Given the description of an element on the screen output the (x, y) to click on. 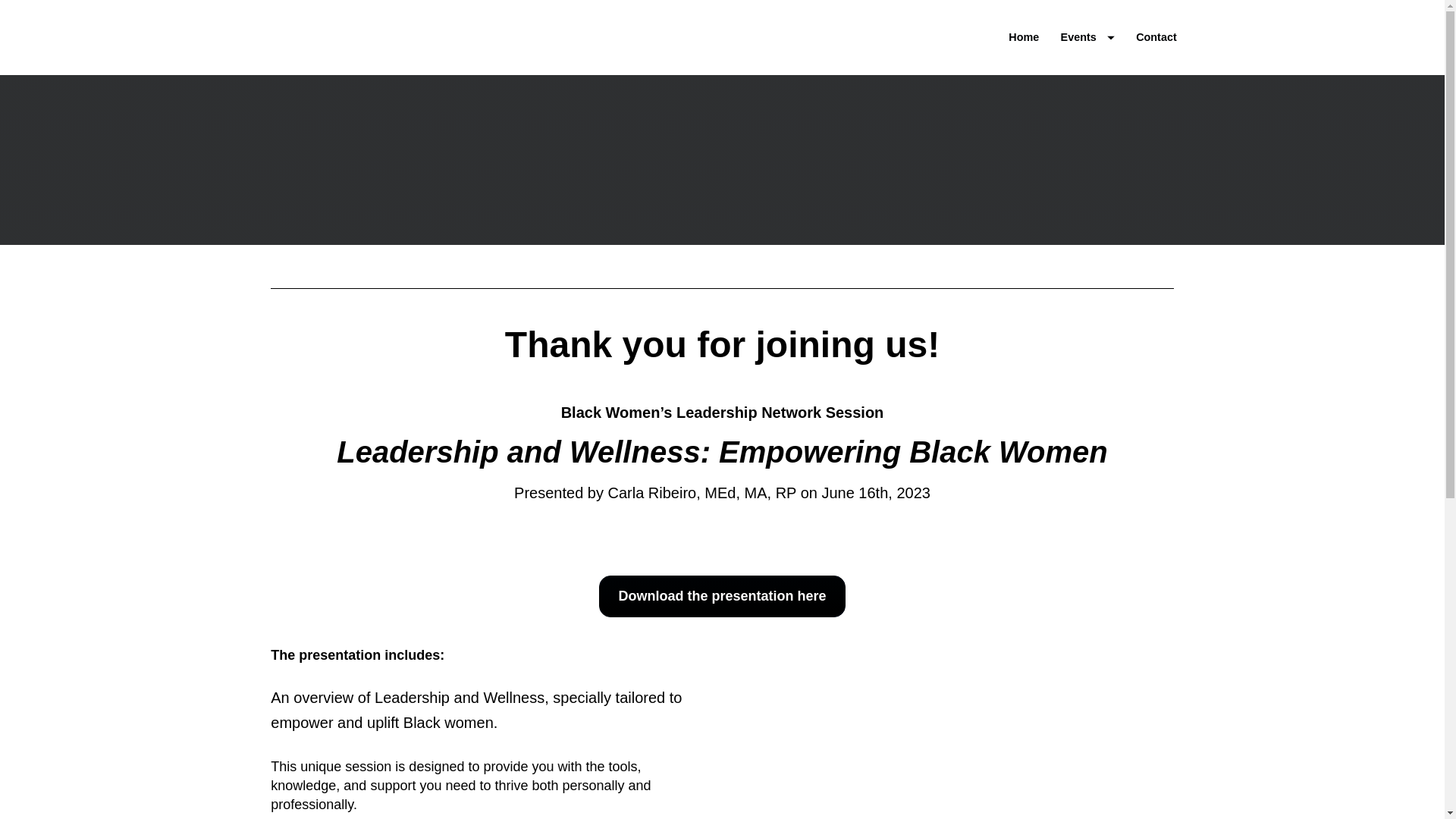
Events (1088, 37)
Contact (1155, 37)
Download the presentation here (721, 596)
